Given the description of an element on the screen output the (x, y) to click on. 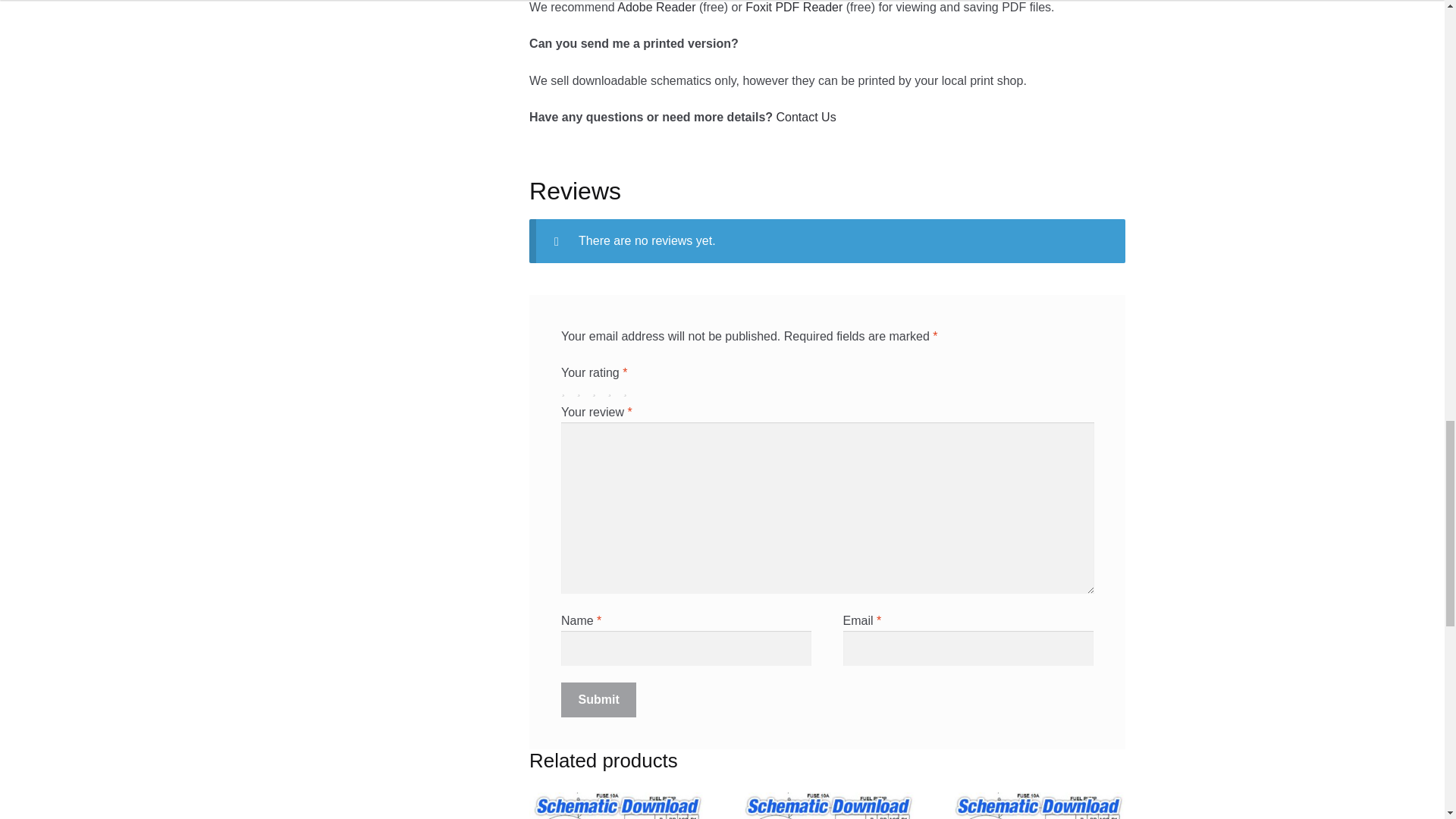
Contact Us (805, 116)
Submit (598, 699)
Foxit PDF Reader (794, 6)
4 (613, 390)
2 (582, 390)
3 (598, 390)
5 (628, 390)
Submit (598, 699)
Adobe Reader (656, 6)
1 (566, 390)
